Given the description of an element on the screen output the (x, y) to click on. 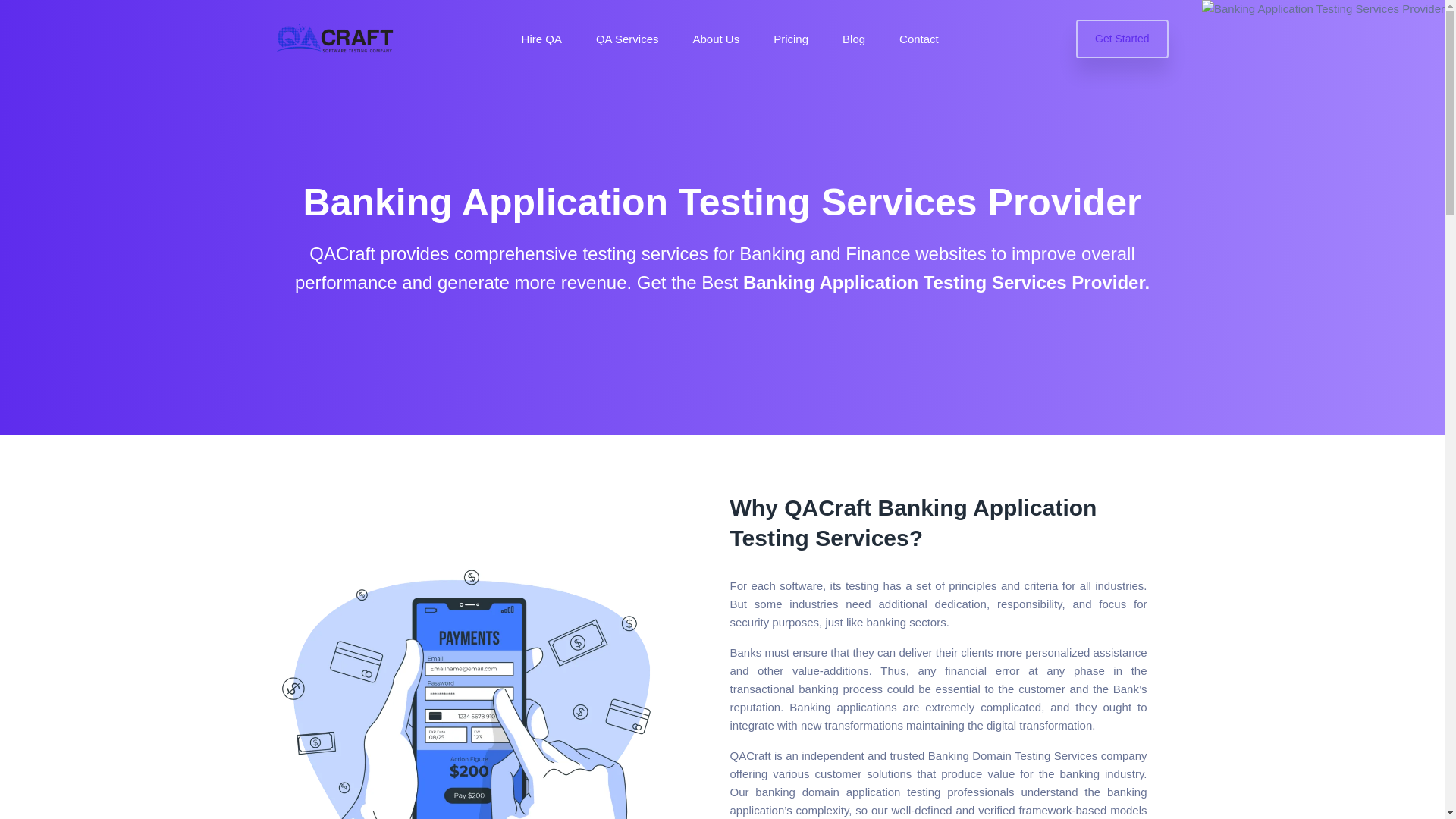
QA Services (627, 38)
Hire QA (541, 38)
About Us (716, 38)
